Given the description of an element on the screen output the (x, y) to click on. 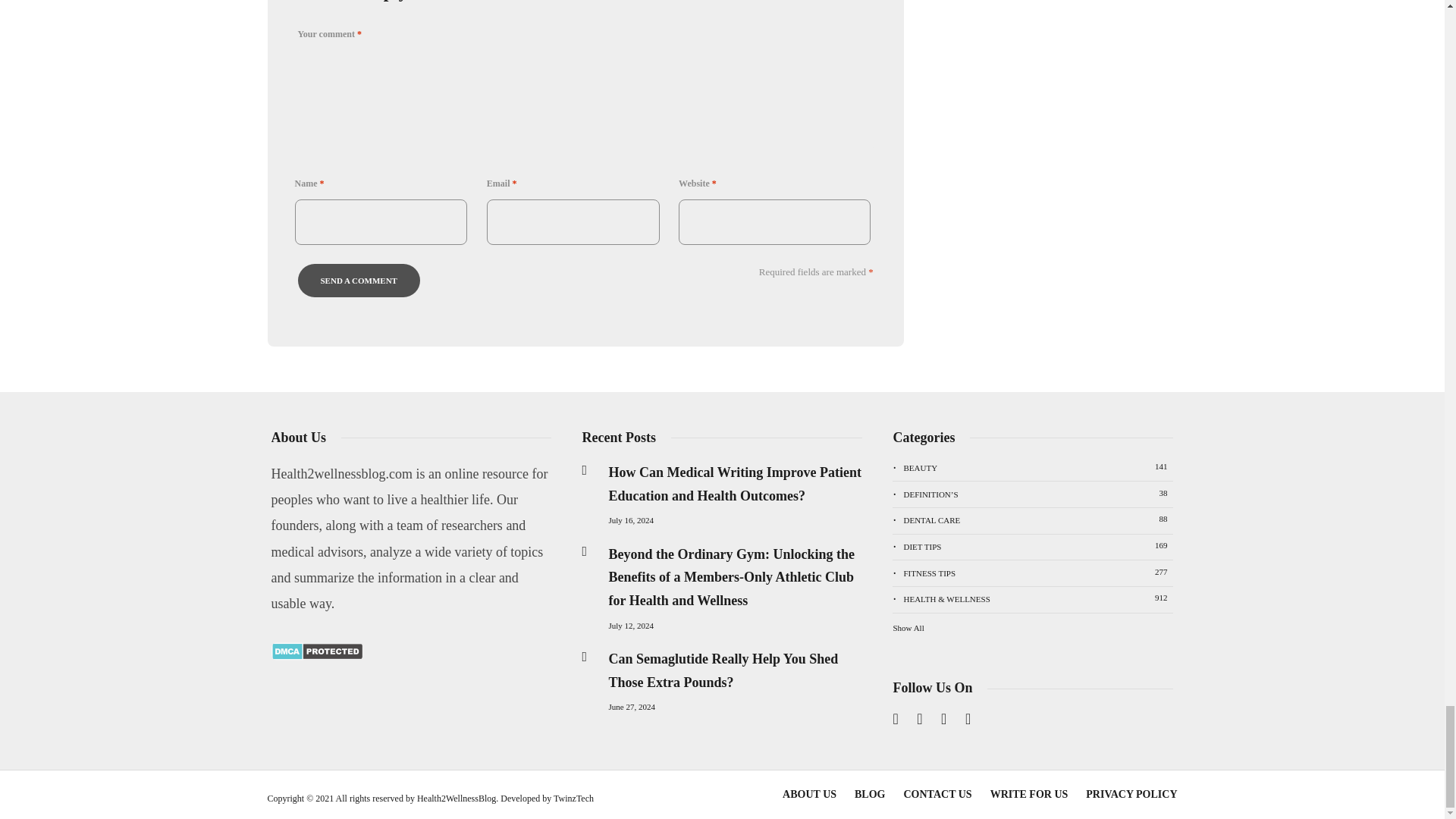
DMCA.com Protection Status (316, 655)
Send a comment (358, 280)
